Given the description of an element on the screen output the (x, y) to click on. 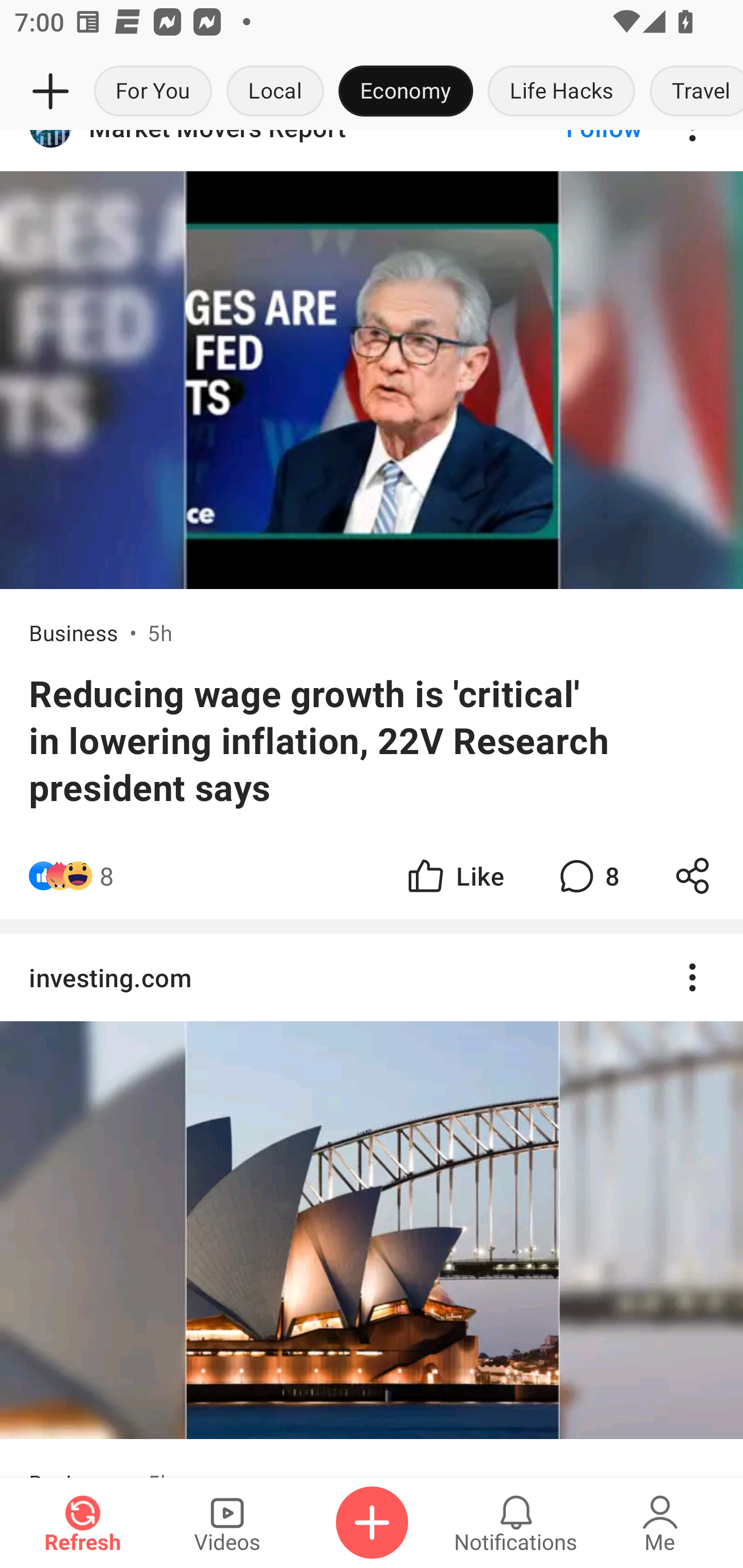
For You (152, 91)
Local (275, 91)
Economy (405, 91)
Life Hacks (561, 91)
Travel (692, 91)
8 (106, 875)
Like (454, 875)
8 (587, 875)
investing.com Business   •  5h (371, 1204)
investing.com (371, 976)
Videos (227, 1522)
Notifications (516, 1522)
Me (659, 1522)
